Given the description of an element on the screen output the (x, y) to click on. 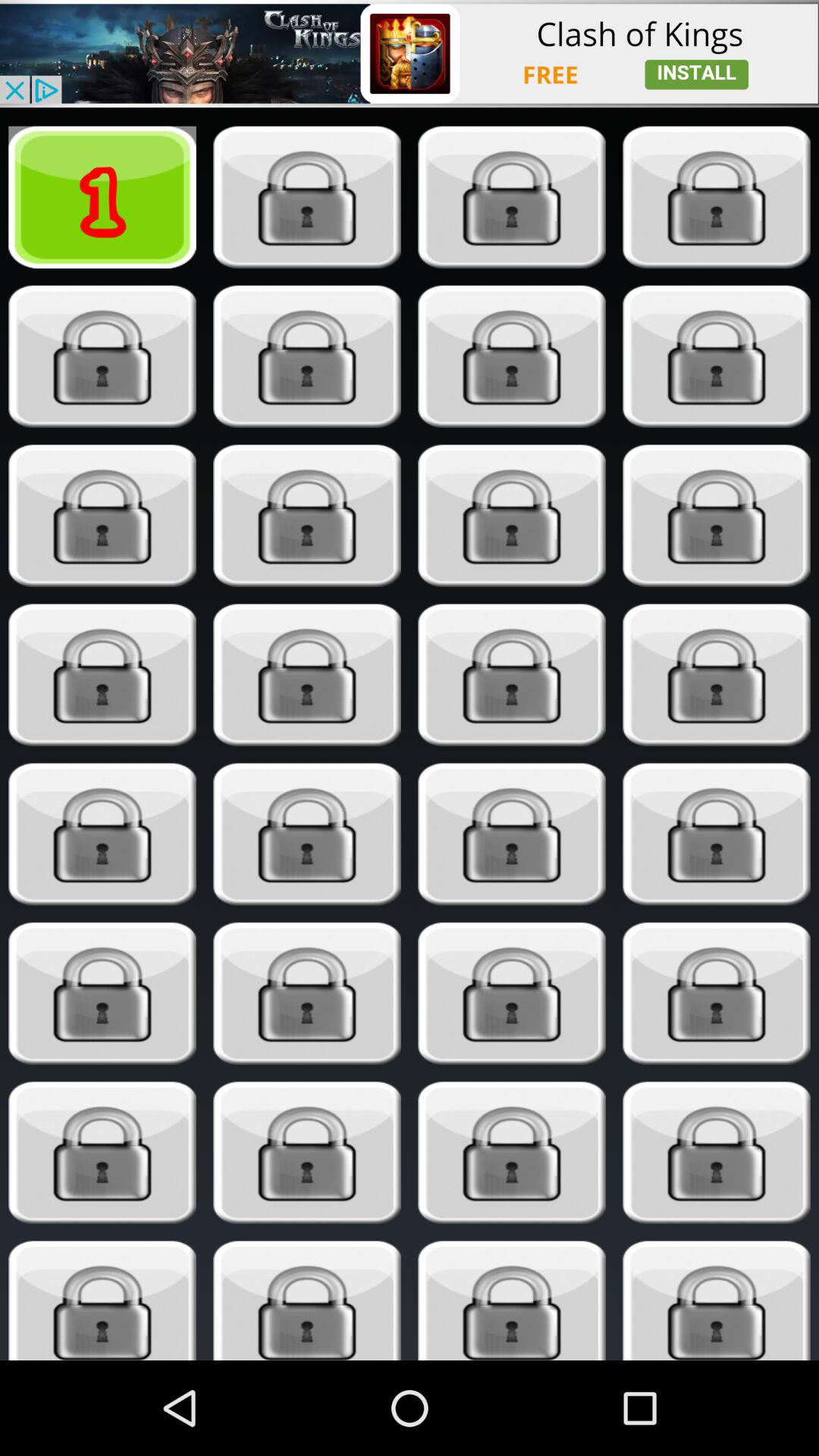
look here (511, 515)
